Given the description of an element on the screen output the (x, y) to click on. 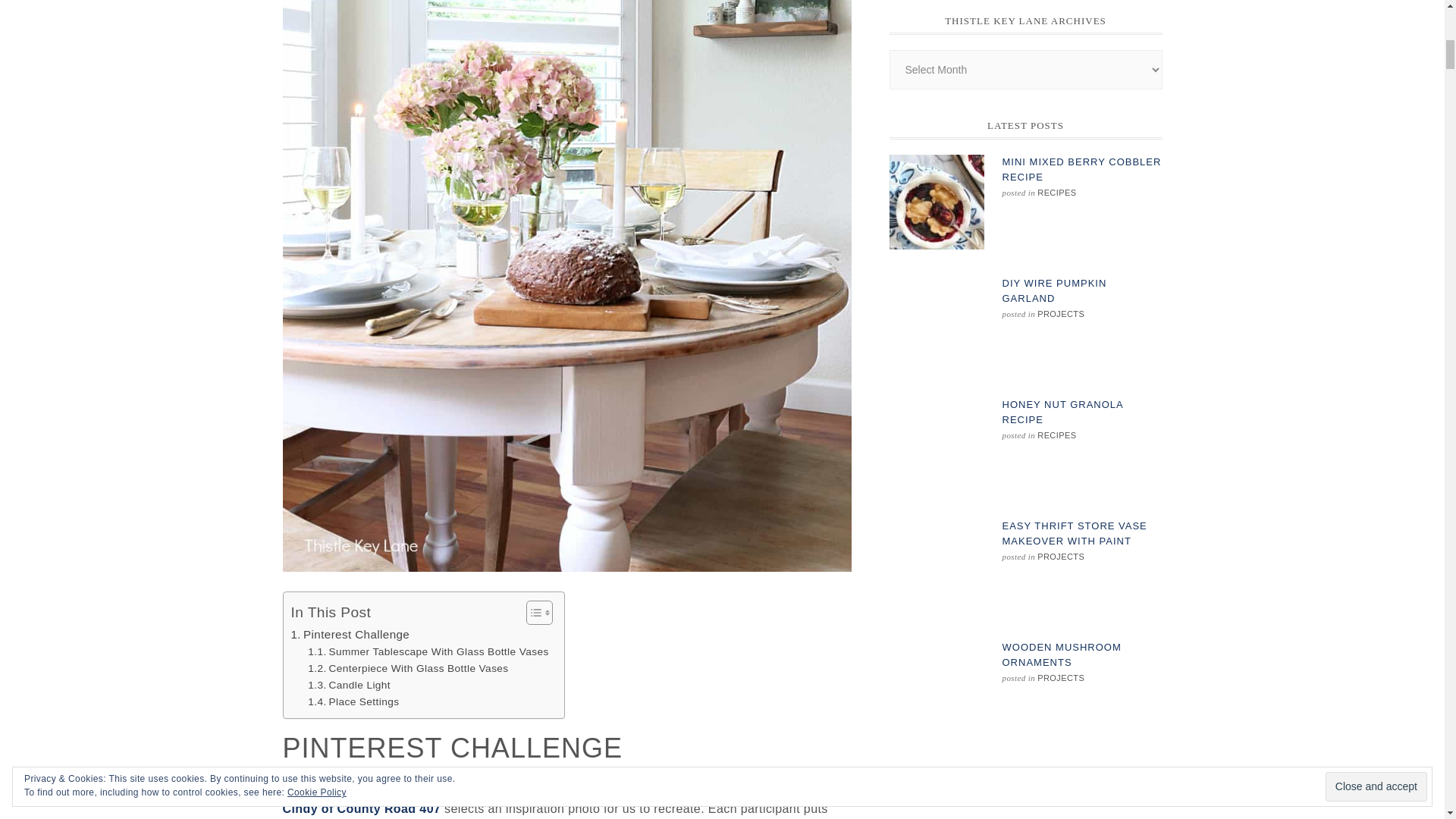
Pinterest Challenge (350, 634)
Summer Tablescape With Glass Bottle Vases (427, 651)
Candle Light (348, 685)
Place Settings (352, 701)
Candle Light (348, 685)
Cindy of County Road 407 (361, 808)
Place Settings (352, 701)
Pinterest Challenge (350, 634)
Centerpiece With Glass Bottle Vases (407, 668)
Summer Tablescape With Glass Bottle Vases (427, 651)
